Given the description of an element on the screen output the (x, y) to click on. 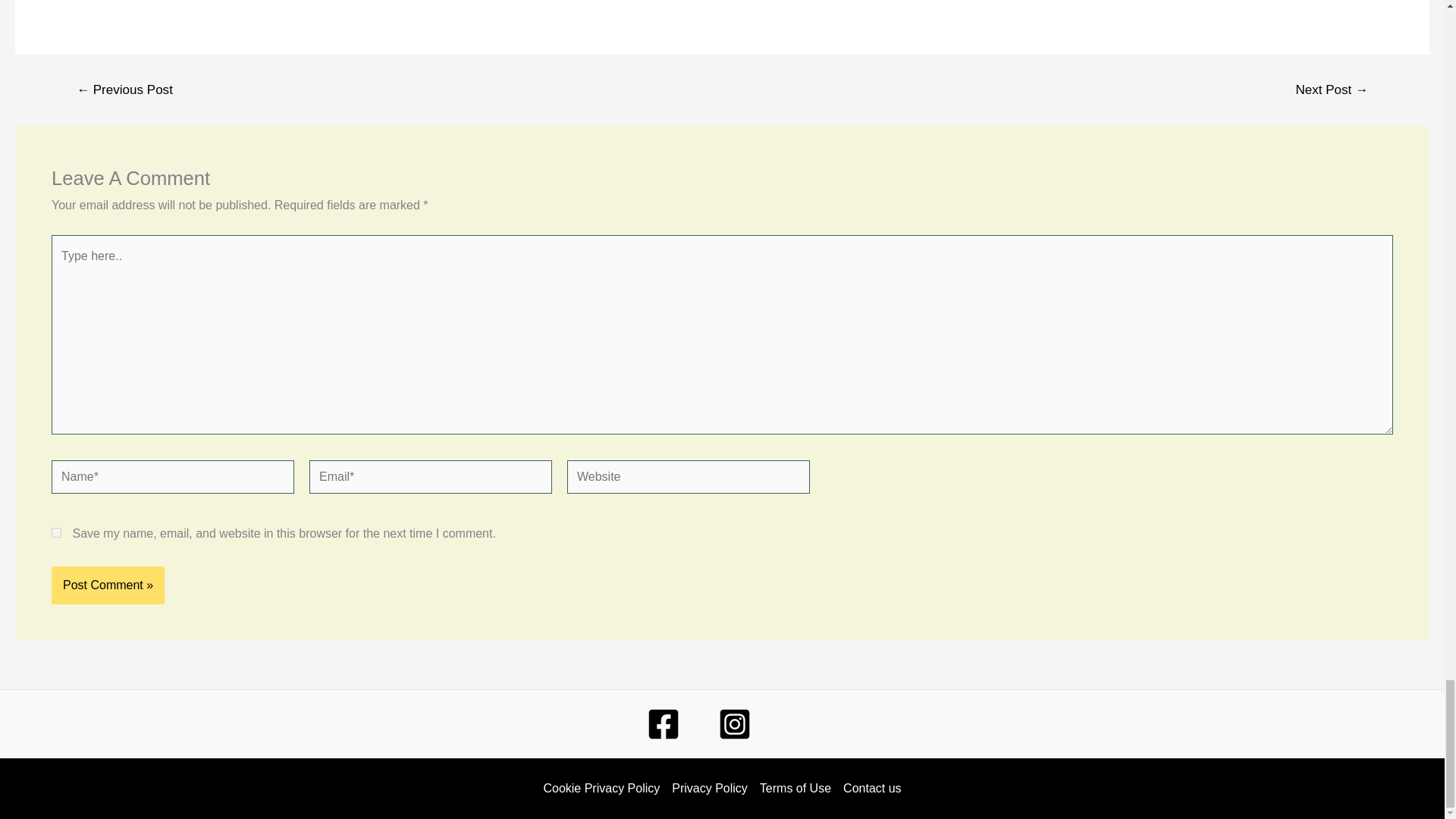
Contact us (869, 788)
Terms of Use (795, 788)
Privacy Policy (709, 788)
yes (55, 532)
Cookie Privacy Policy (604, 788)
